Given the description of an element on the screen output the (x, y) to click on. 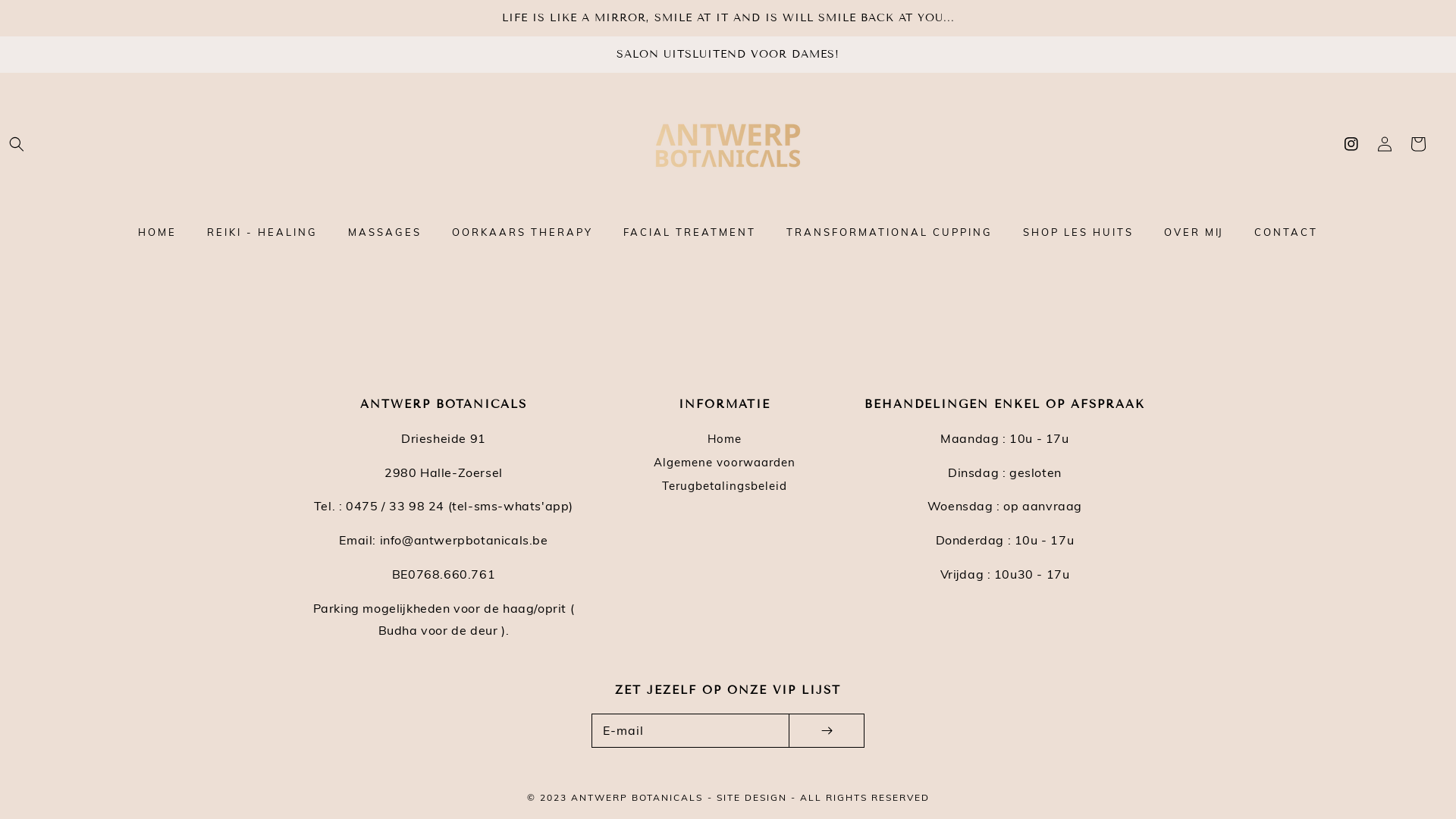
Home Element type: text (723, 439)
Algemene voorwaarden Element type: text (724, 461)
Instagram Element type: text (1351, 143)
OVER MIJ Element type: text (1193, 232)
ANTWERP BOTANICALS Element type: text (636, 797)
Inloggen Element type: text (1384, 143)
OORKAARS THERAPY Element type: text (522, 232)
TRANSFORMATIONAL CUPPING Element type: text (889, 232)
REIKI - HEALING Element type: text (261, 232)
Terugbetalingsbeleid Element type: text (723, 485)
Winkelwagen Element type: text (1417, 143)
HOME Element type: text (156, 232)
FACIAL TREATMENT Element type: text (689, 232)
SHOP LES HUITS Element type: text (1077, 232)
MASSAGES Element type: text (384, 232)
CONTACT Element type: text (1286, 232)
SITE DESIGN Element type: text (750, 797)
